Given the description of an element on the screen output the (x, y) to click on. 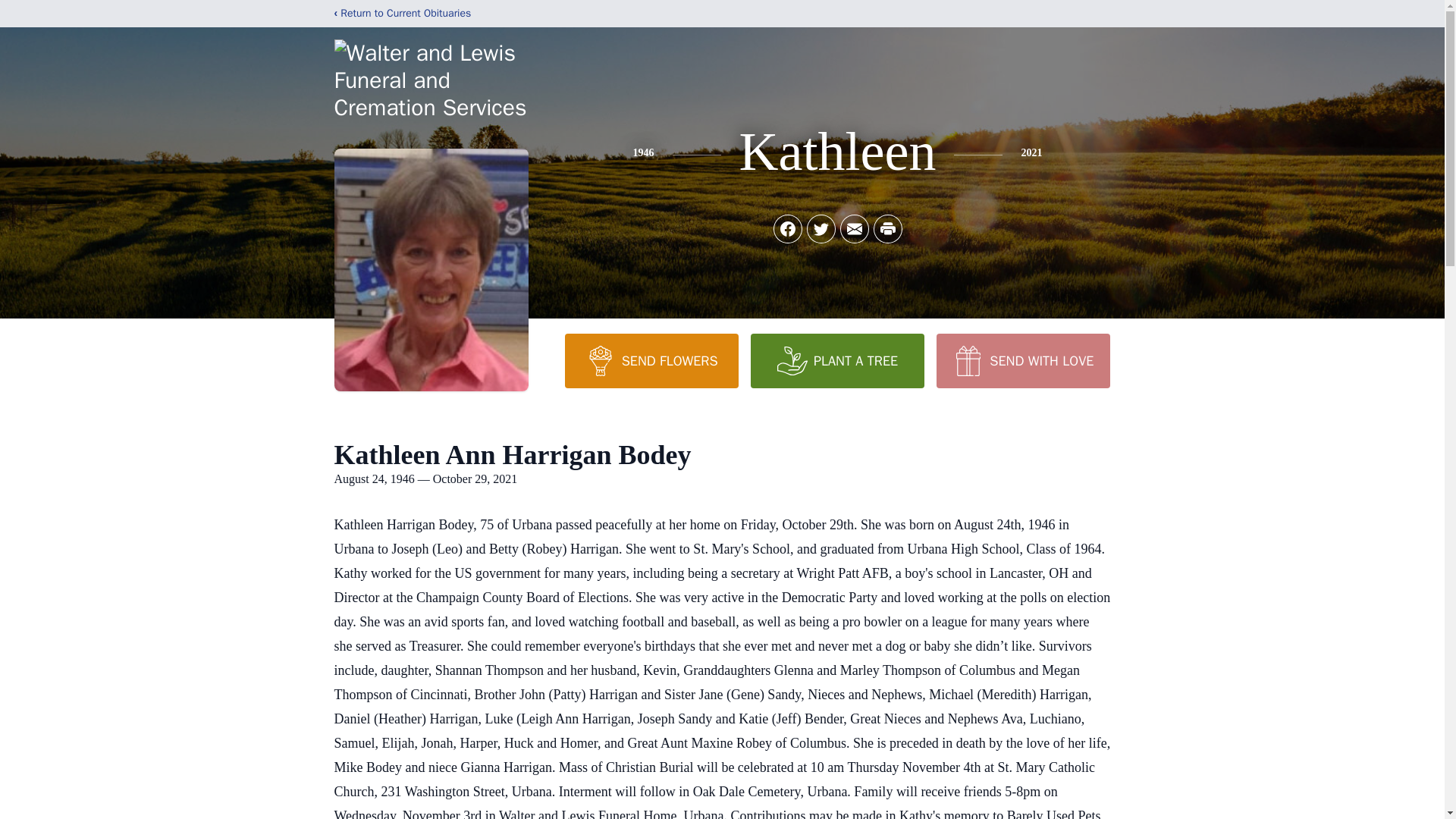
SEND WITH LOVE (1022, 360)
PLANT A TREE (837, 360)
SEND FLOWERS (651, 360)
